Given the description of an element on the screen output the (x, y) to click on. 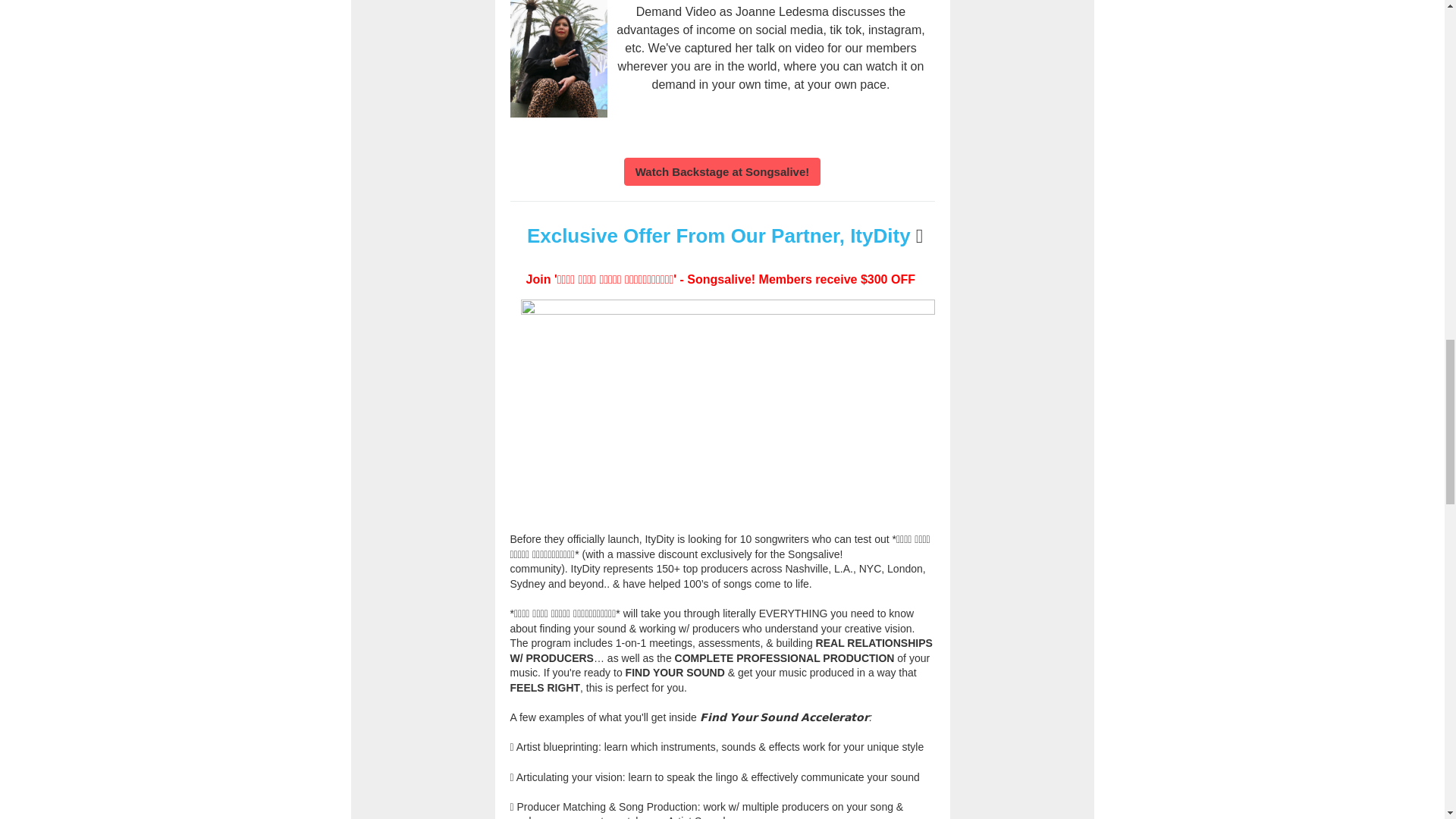
Watch Backstage at Songsalive! (722, 171)
Tap to Watch (722, 171)
